Given the description of an element on the screen output the (x, y) to click on. 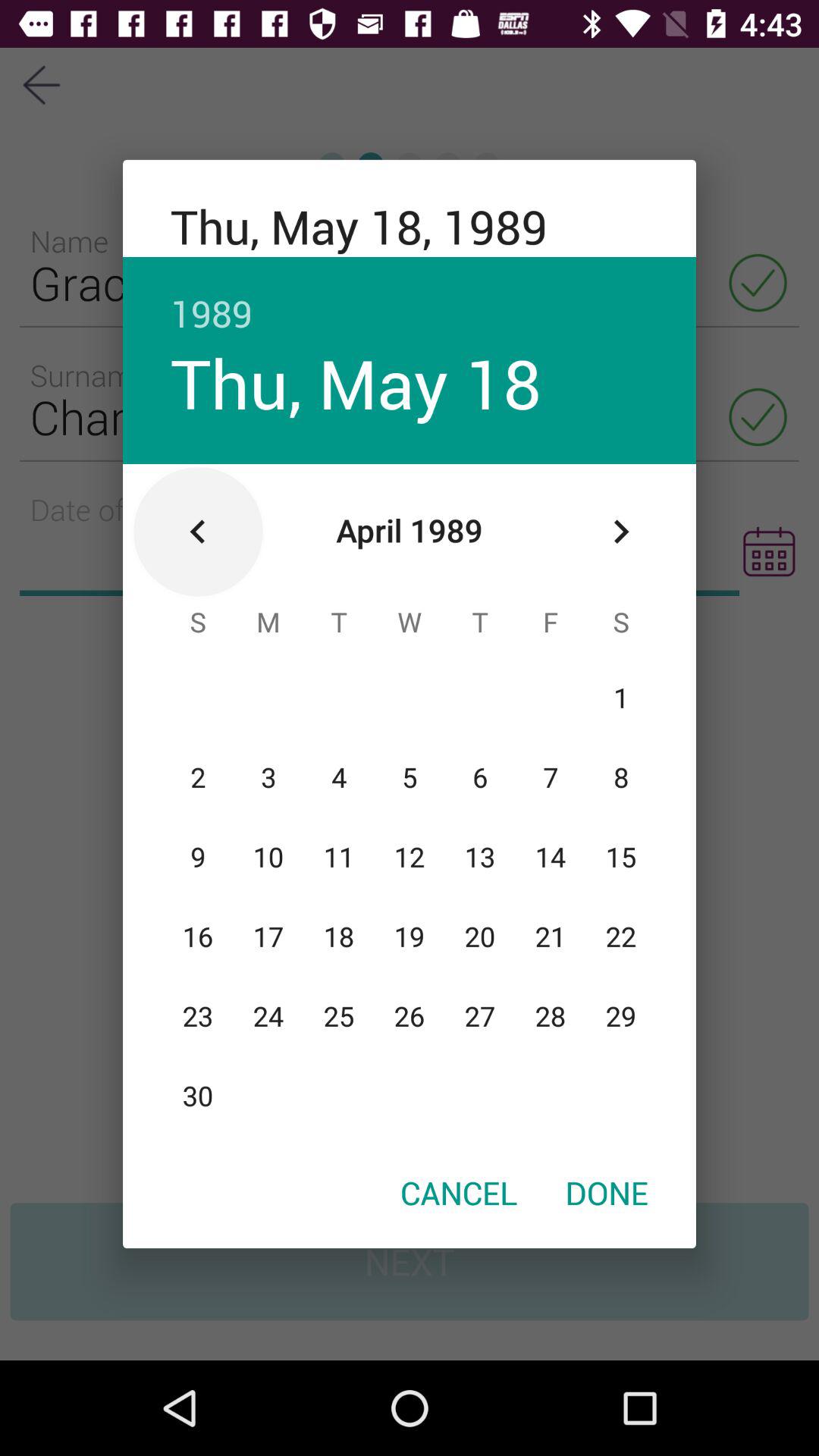
select the icon below the 1989 item (620, 531)
